Given the description of an element on the screen output the (x, y) to click on. 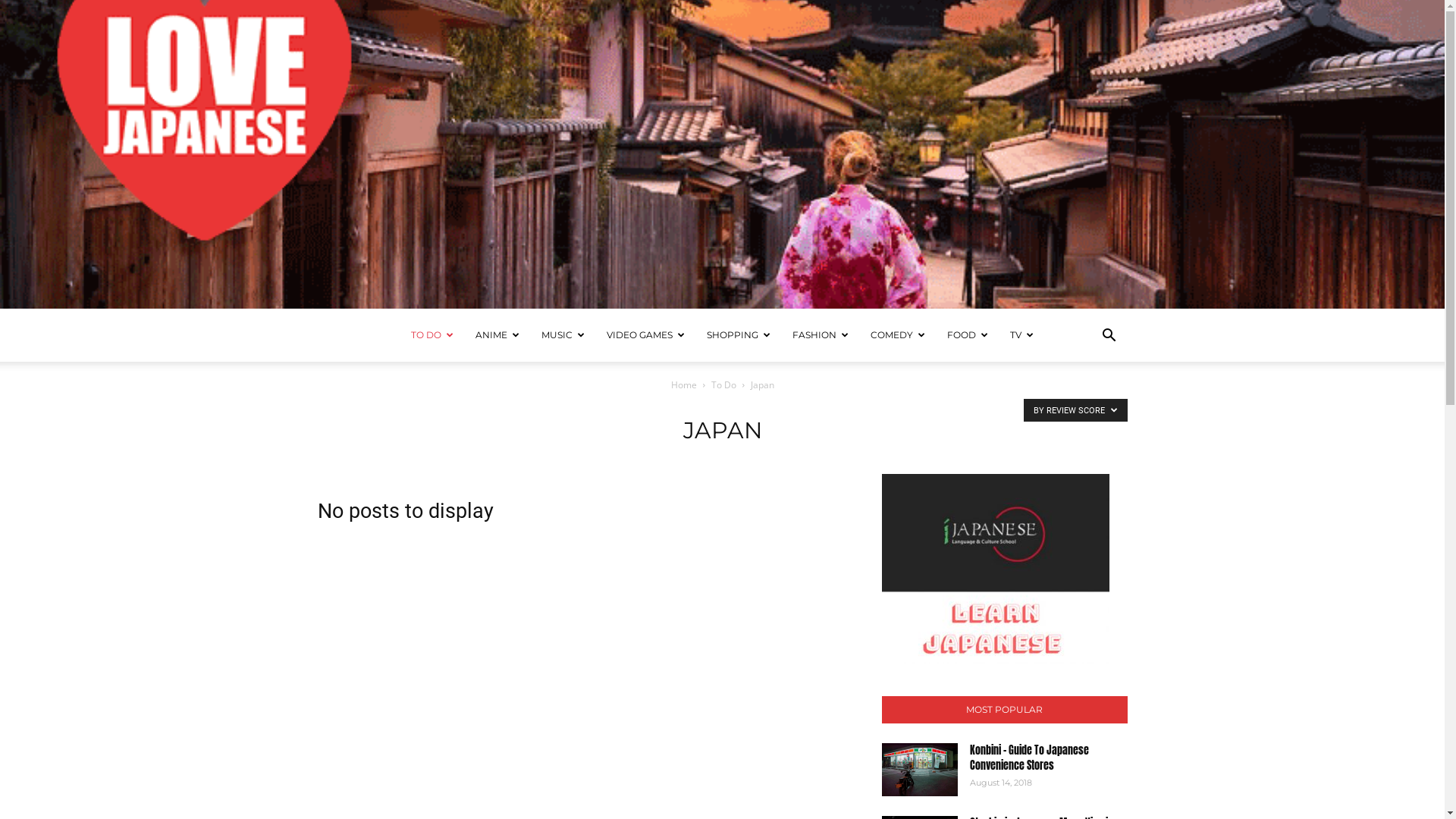
FASHION Element type: text (820, 334)
TV Element type: text (1021, 334)
FOOD Element type: text (966, 334)
SHOPPING Element type: text (738, 334)
VIDEO GAMES Element type: text (646, 334)
COMEDY Element type: text (897, 334)
To Do Element type: text (723, 384)
Search Element type: text (1085, 404)
Home Element type: text (683, 384)
ANIME Element type: text (497, 334)
TO DO Element type: text (432, 334)
MUSIC Element type: text (563, 334)
